Given the description of an element on the screen output the (x, y) to click on. 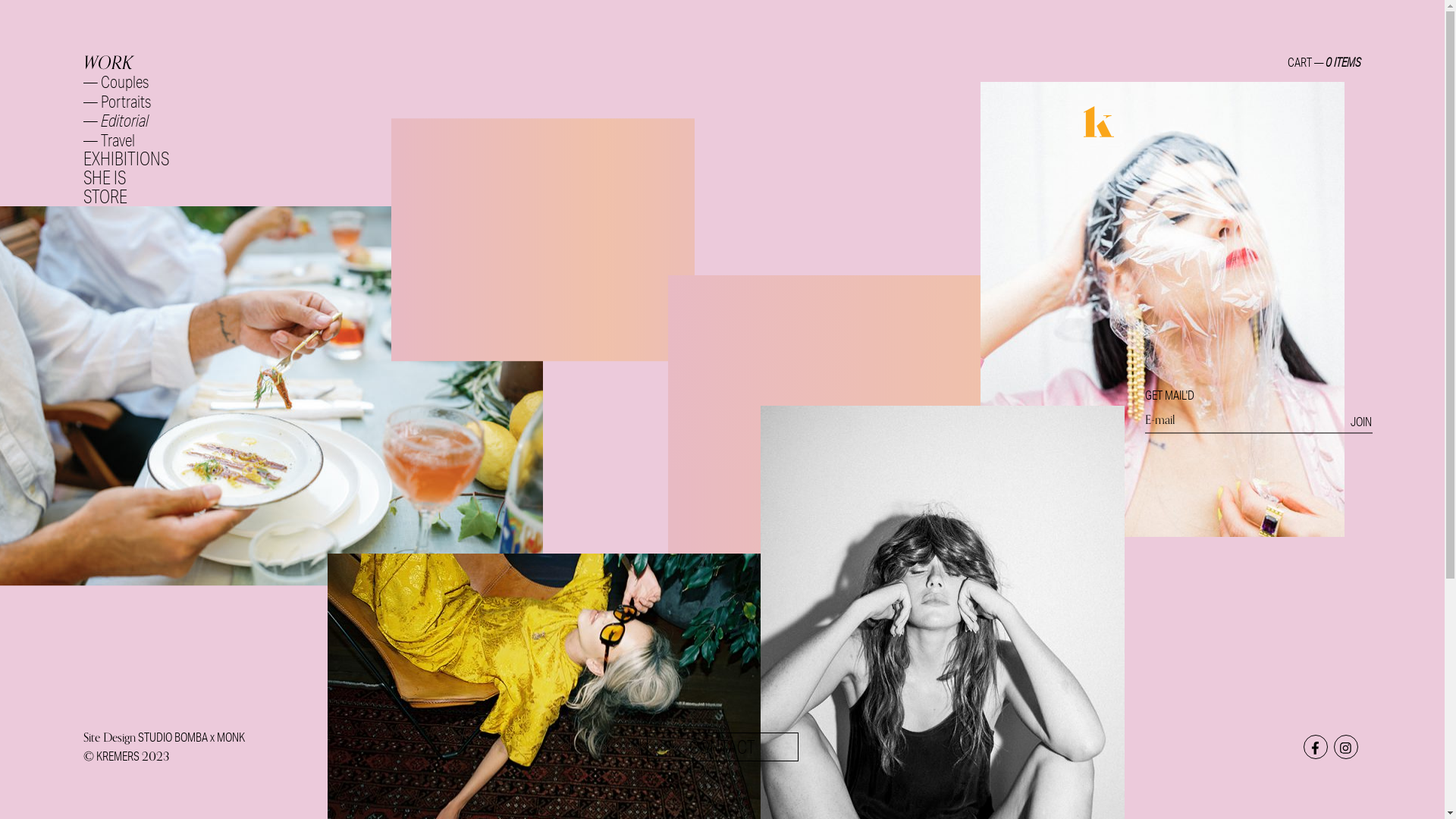
INSTAGRAM Element type: text (1345, 746)
STORE Element type: text (105, 196)
WORK Element type: text (107, 62)
EXHIBITIONS Element type: text (126, 158)
Travel Element type: text (117, 141)
Portraits Element type: text (125, 102)
Editorial Element type: text (124, 121)
CONTACT Element type: text (721, 746)
Couples Element type: text (124, 82)
JOIN Element type: text (1360, 420)
FACEBOOK Element type: text (1315, 746)
SHE IS Element type: text (104, 177)
